Given the description of an element on the screen output the (x, y) to click on. 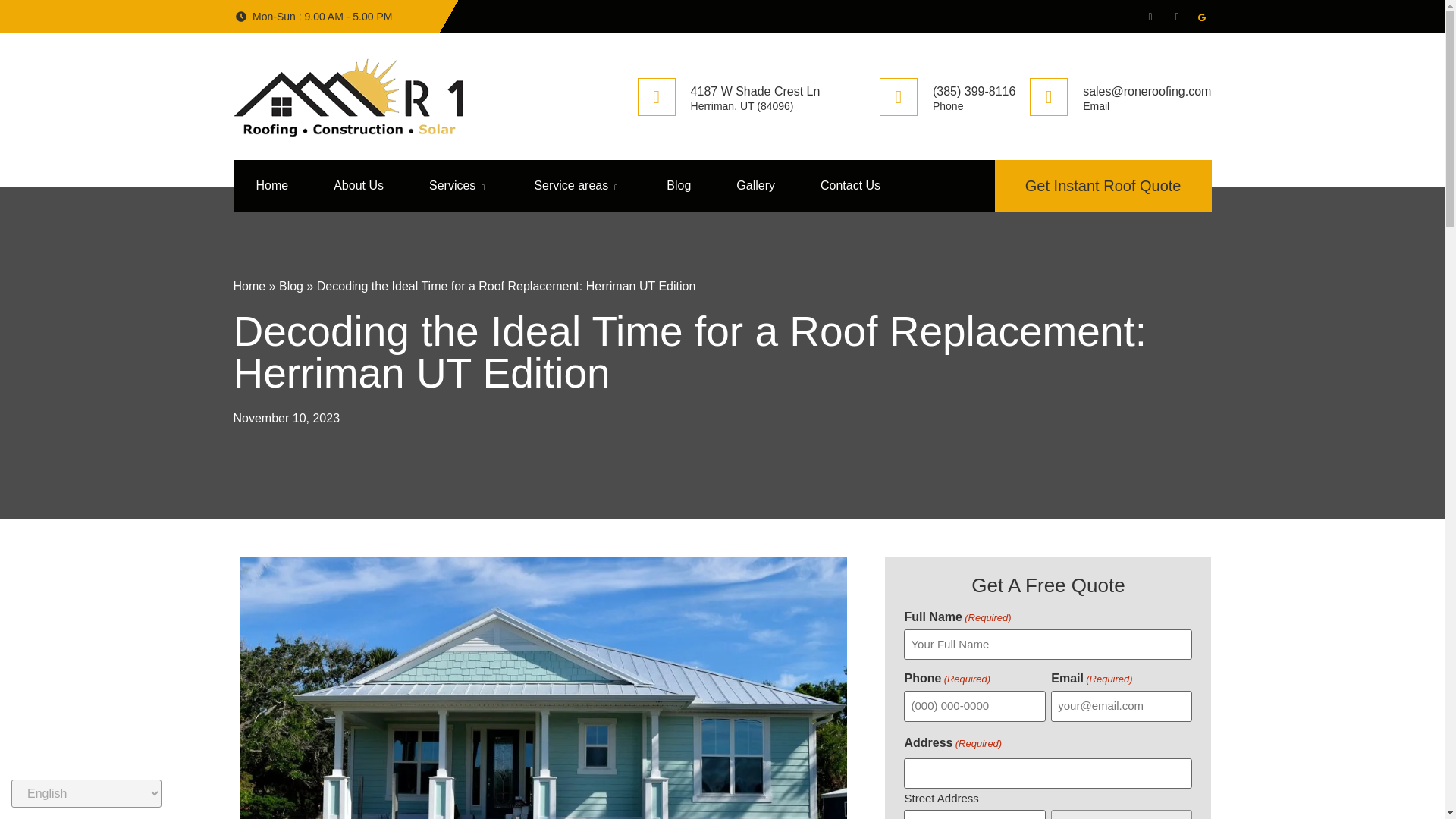
Blog (678, 185)
Contact Us (849, 185)
Home (249, 286)
Service areas (577, 185)
Get Instant Roof Quote (1102, 185)
About Us (358, 185)
Services (458, 185)
Home (271, 185)
Blog (290, 286)
Gallery (755, 185)
